Given the description of an element on the screen output the (x, y) to click on. 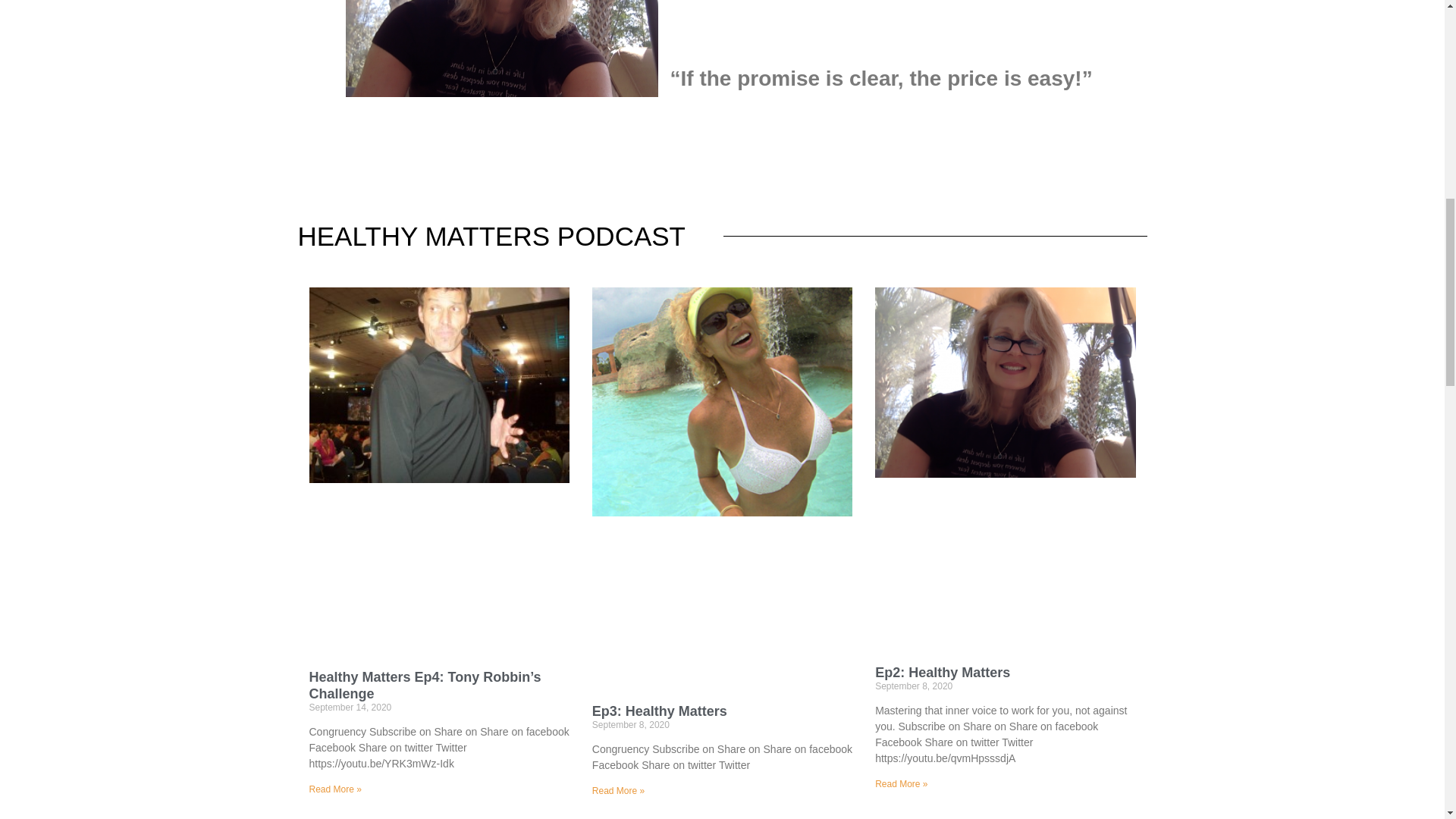
Ep3: Healthy Matters (659, 711)
Ep2: Healthy Matters (942, 672)
